Given the description of an element on the screen output the (x, y) to click on. 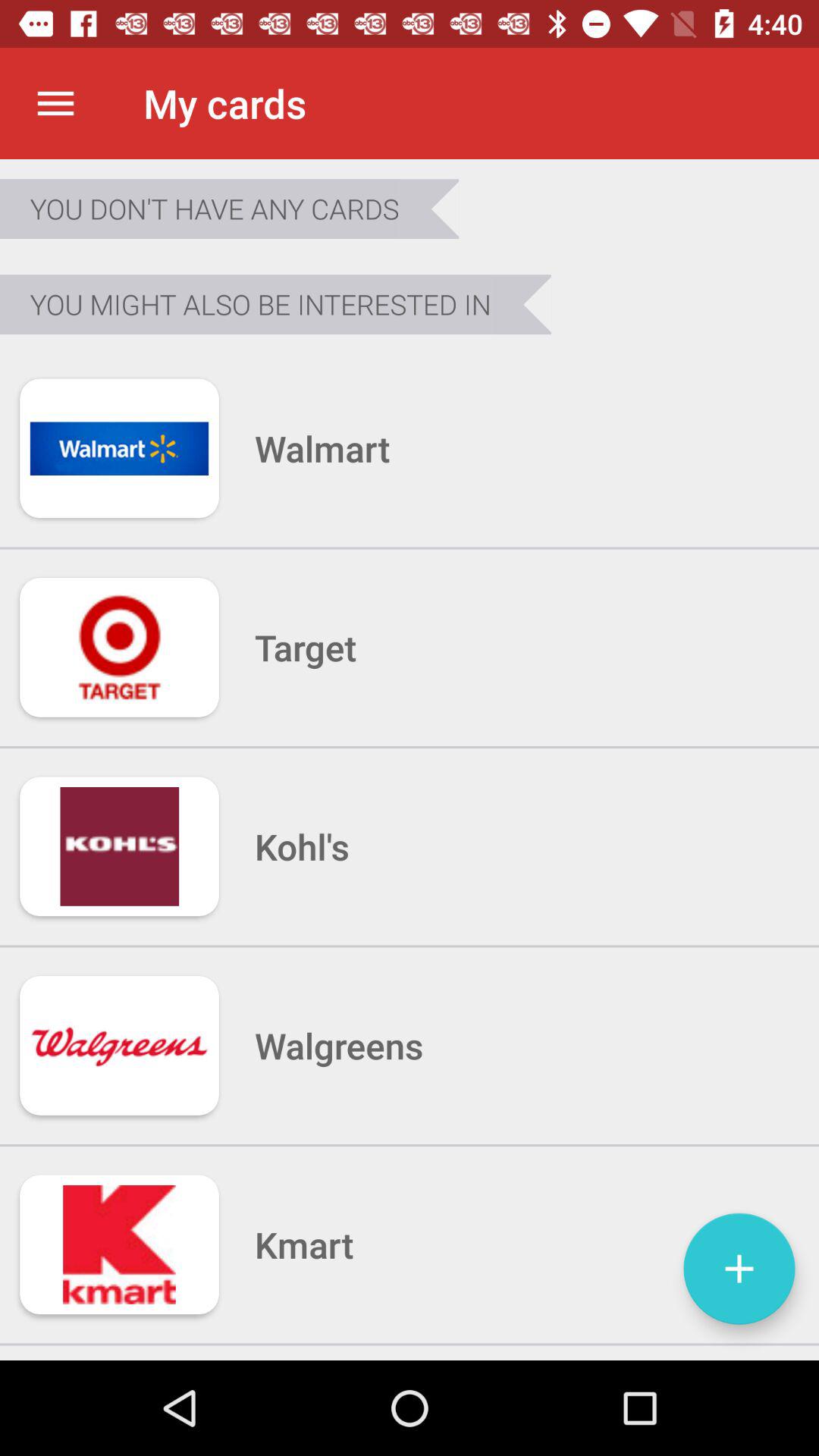
turn on icon next to kmart item (739, 1268)
